Given the description of an element on the screen output the (x, y) to click on. 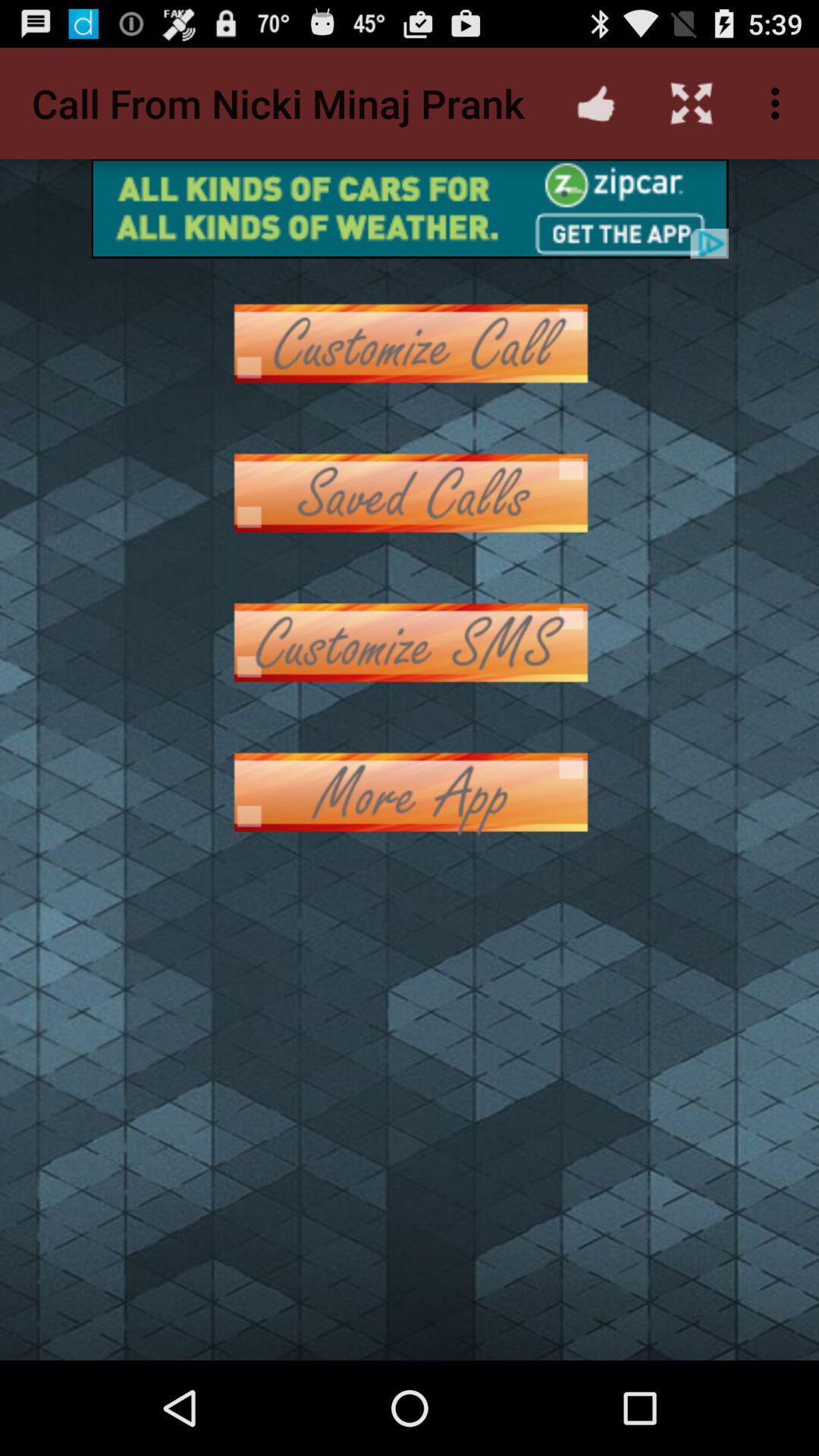
games page (409, 492)
